Given the description of an element on the screen output the (x, y) to click on. 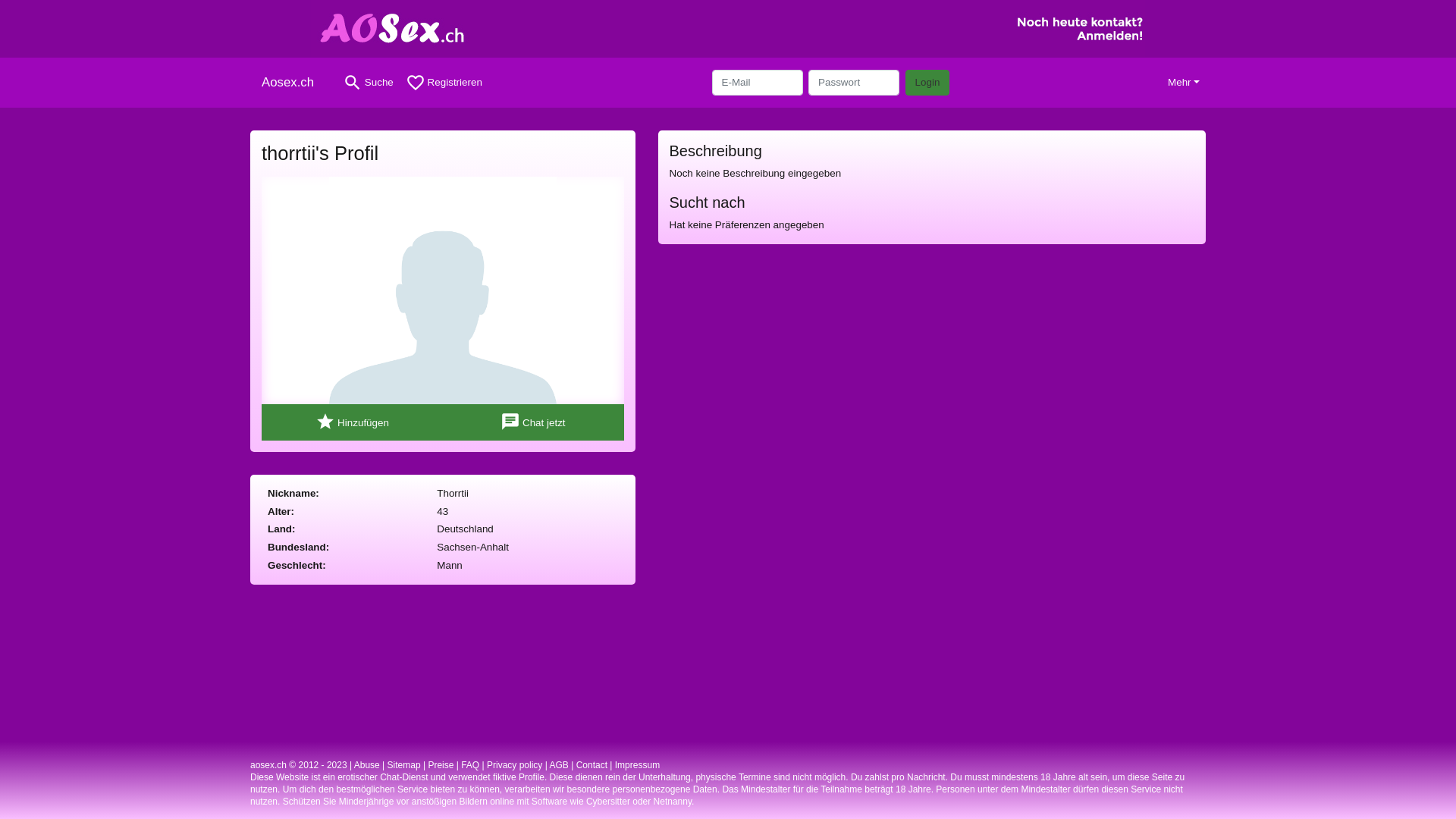
Abuse Element type: text (366, 764)
AGB Element type: text (558, 764)
favorite_border
Registrieren Element type: text (443, 82)
Preise Element type: text (440, 764)
search
Suche Element type: text (367, 82)
Privacy policy Element type: text (514, 764)
Mehr Element type: text (1183, 82)
Contact Element type: text (591, 764)
Impressum Element type: text (637, 764)
Login Element type: text (927, 82)
chat Chat jetzt Element type: text (533, 422)
FAQ Element type: text (470, 764)
Sitemap Element type: text (403, 764)
Aosex.ch Element type: text (293, 82)
